Given the description of an element on the screen output the (x, y) to click on. 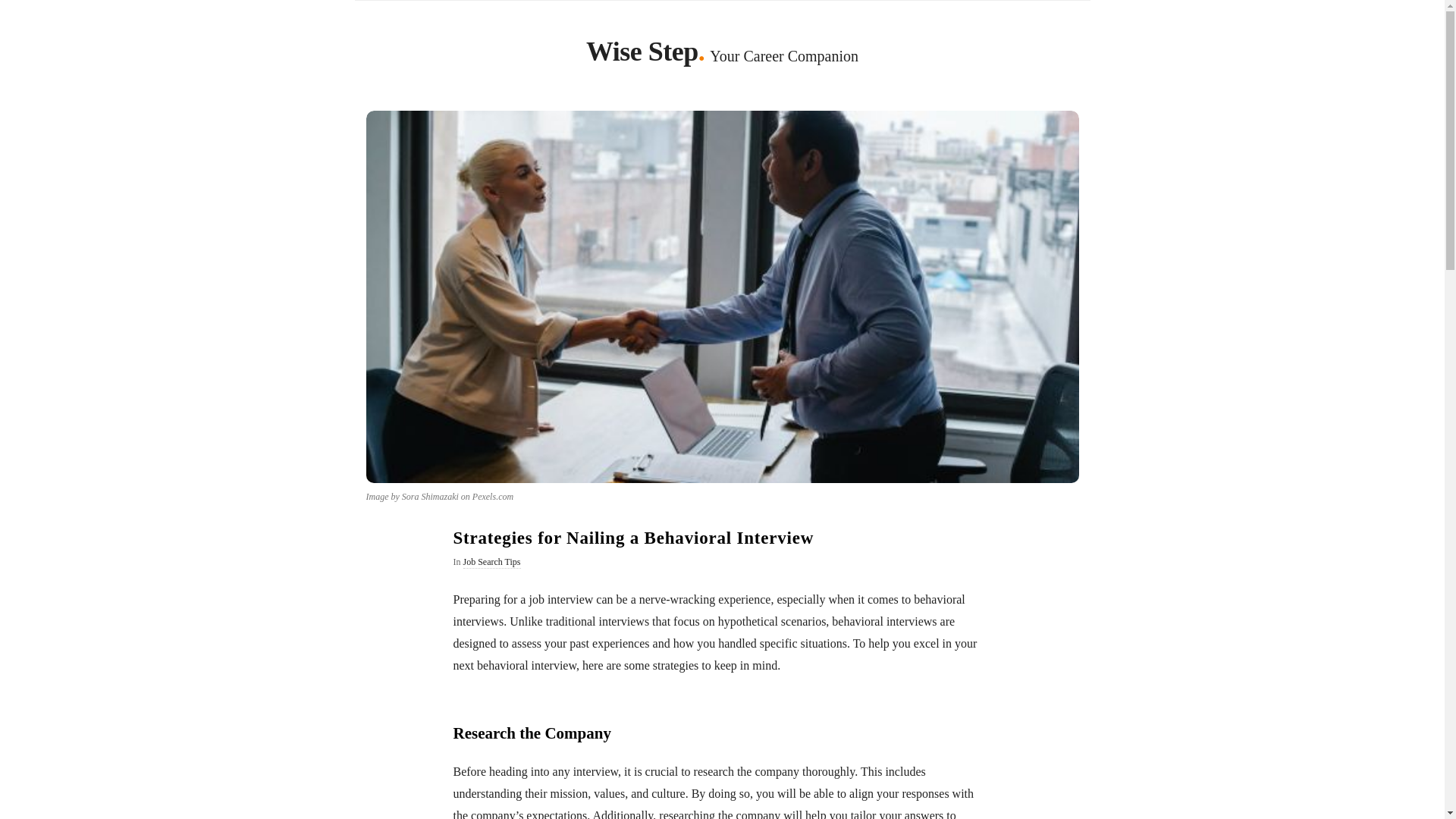
Job Search Tips (491, 562)
Wise Step (642, 55)
Wise Step (642, 55)
